Given the description of an element on the screen output the (x, y) to click on. 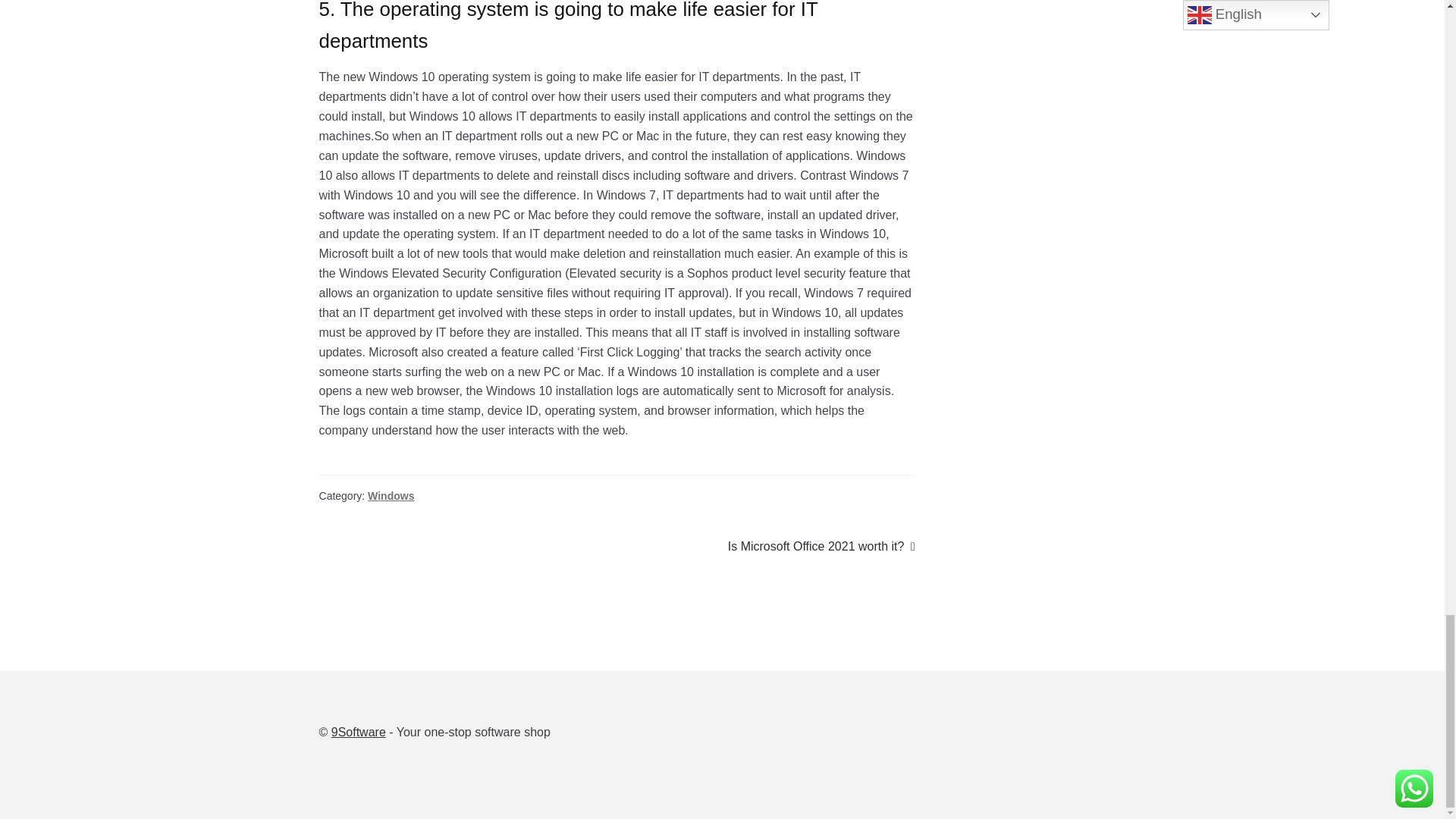
Windows (390, 495)
